Given the description of an element on the screen output the (x, y) to click on. 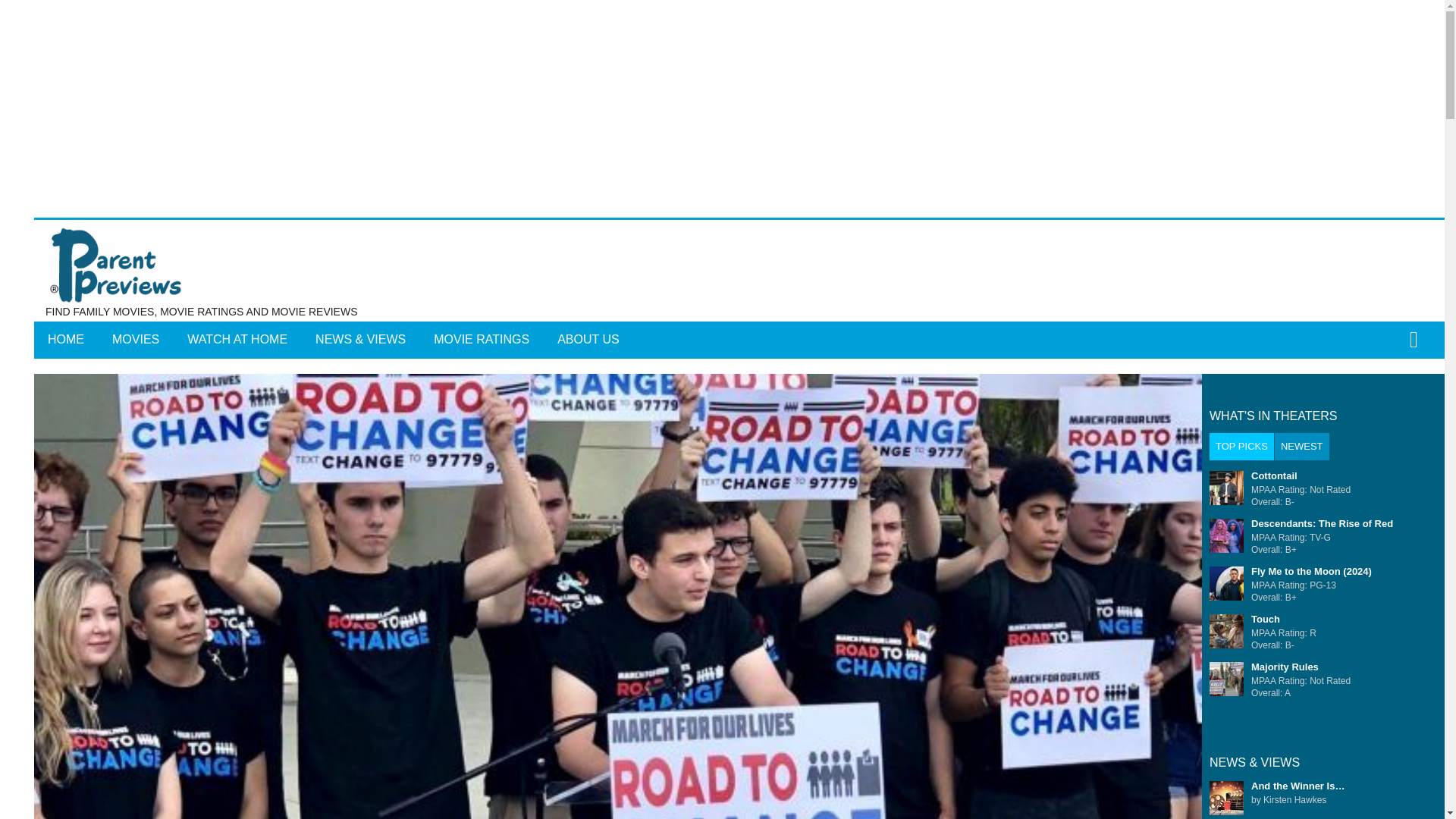
ABOUT US (588, 339)
Search (763, 349)
WATCH AT HOME (237, 339)
HOME (65, 339)
MOVIES (136, 339)
MOVIE RATINGS (481, 339)
